Given the description of an element on the screen output the (x, y) to click on. 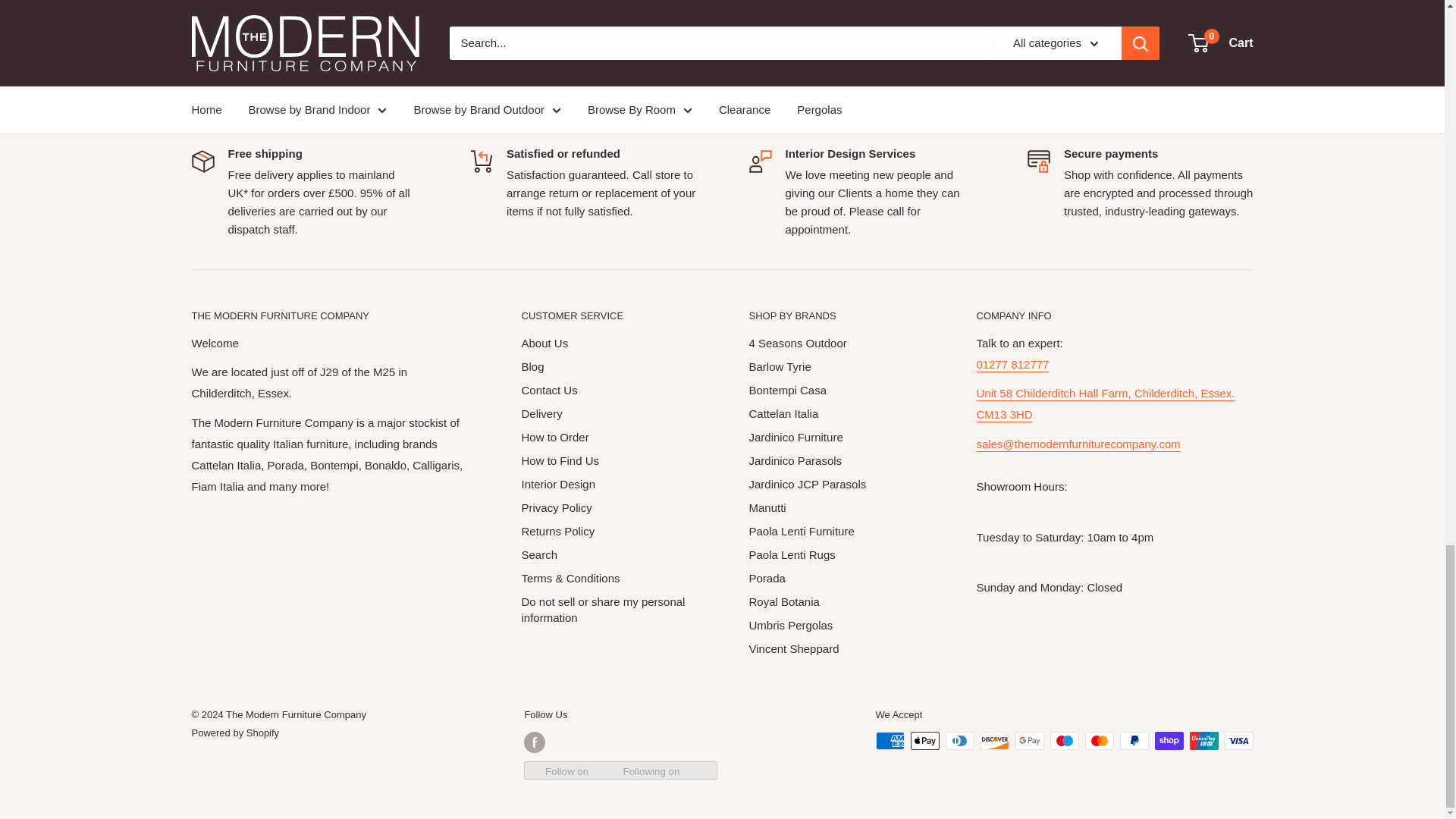
Location Map (1105, 403)
Email Us (1078, 454)
